Given the description of an element on the screen output the (x, y) to click on. 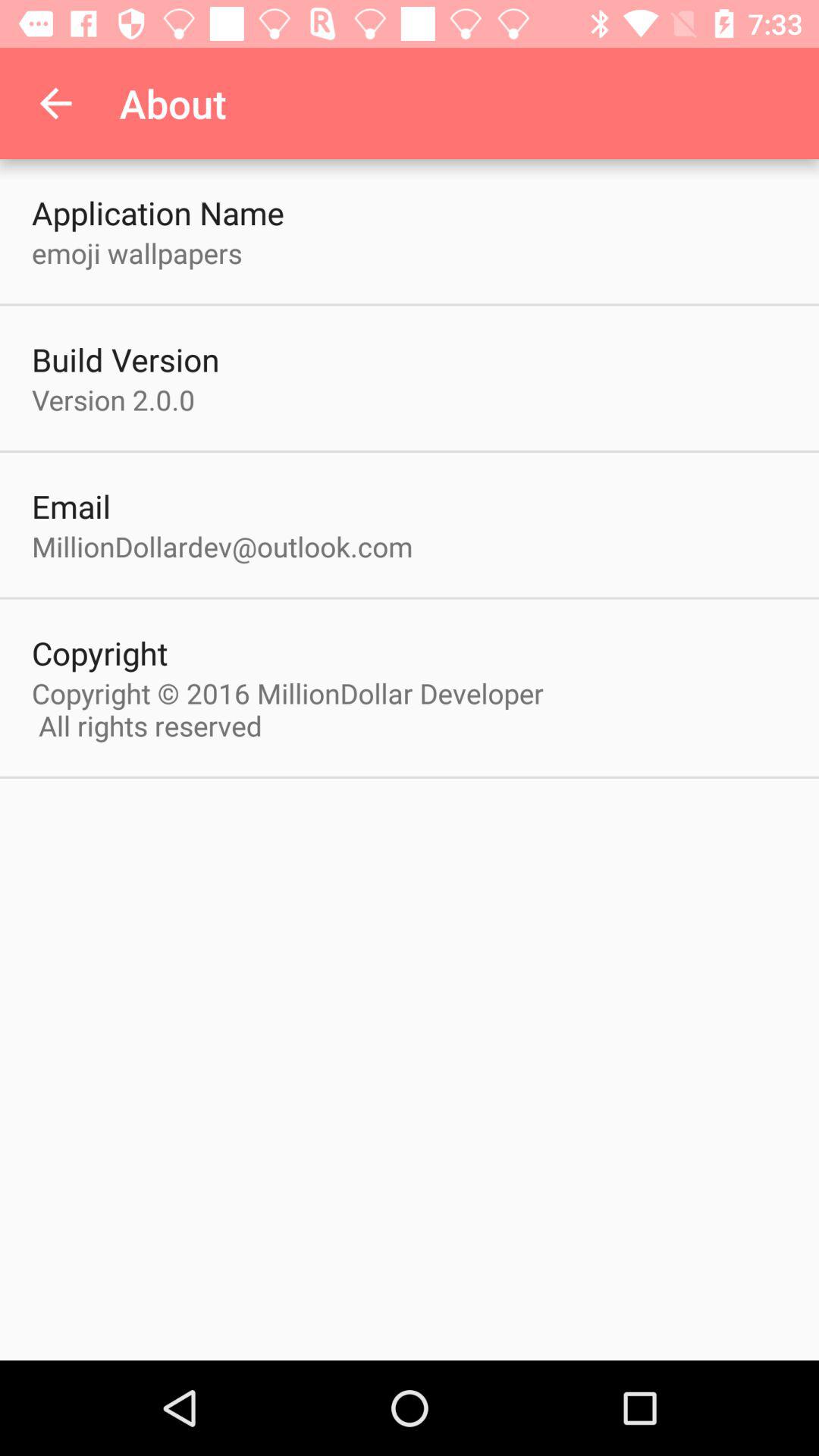
turn on the copyright 2016 milliondollar icon (295, 709)
